Given the description of an element on the screen output the (x, y) to click on. 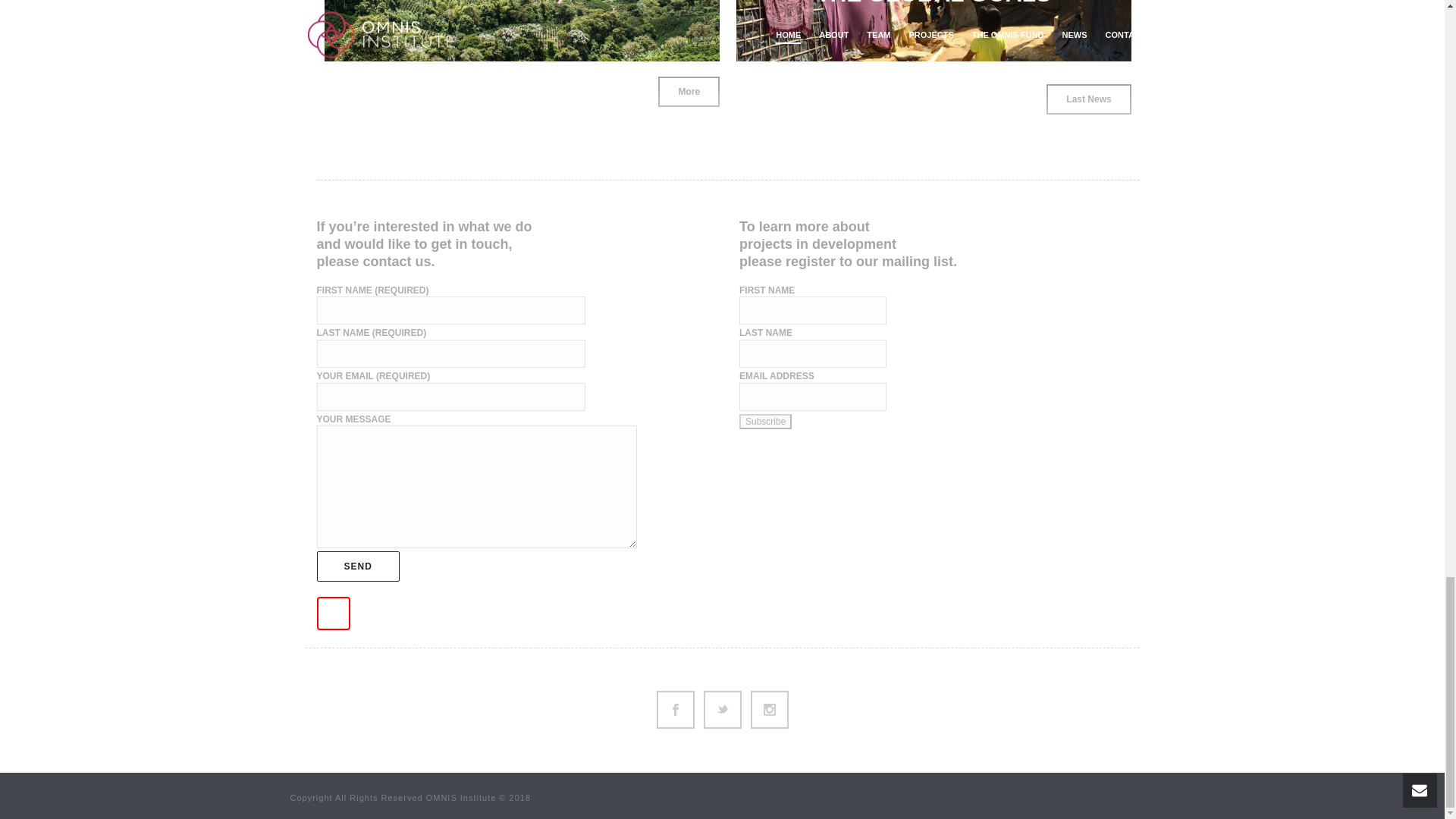
Subscribe (765, 421)
Explore (1081, 15)
Last News (1088, 99)
Explore (670, 15)
Send (357, 566)
More (688, 91)
Subscribe (765, 421)
Send (357, 566)
